Given the description of an element on the screen output the (x, y) to click on. 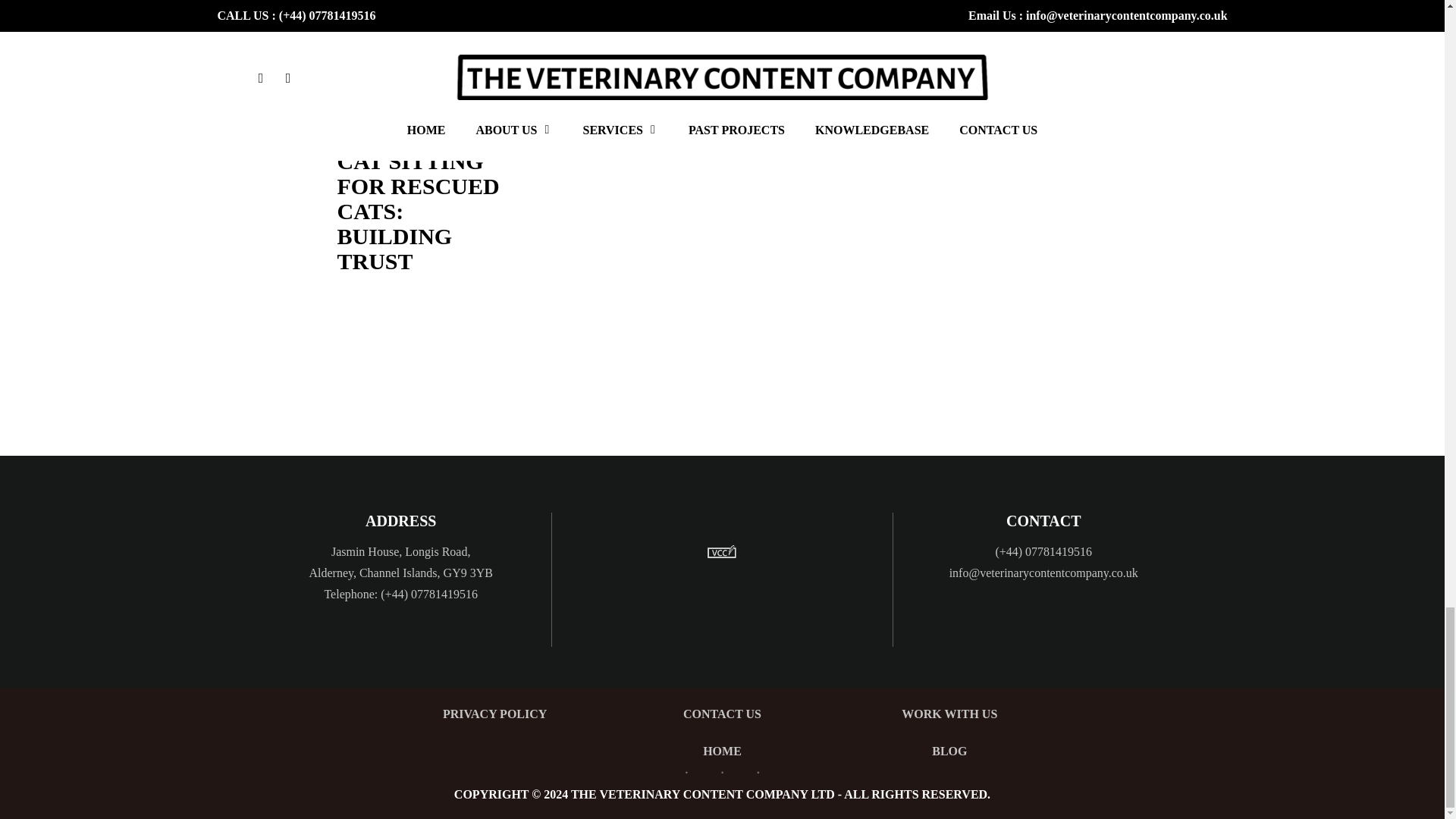
CONTACT US (721, 713)
CAT SITTING FOR RESCUED CATS: BUILDING TRUST (417, 210)
WORMING YOUR DOG: WHAT YOU NEED TO KNOW (704, 24)
CAT WORMING GUIDE: HOW TO TREAT AND WHAT TO LOOK FOR (395, 24)
PRIVACY POLICY (494, 713)
Lily Richards (363, 138)
